Given the description of an element on the screen output the (x, y) to click on. 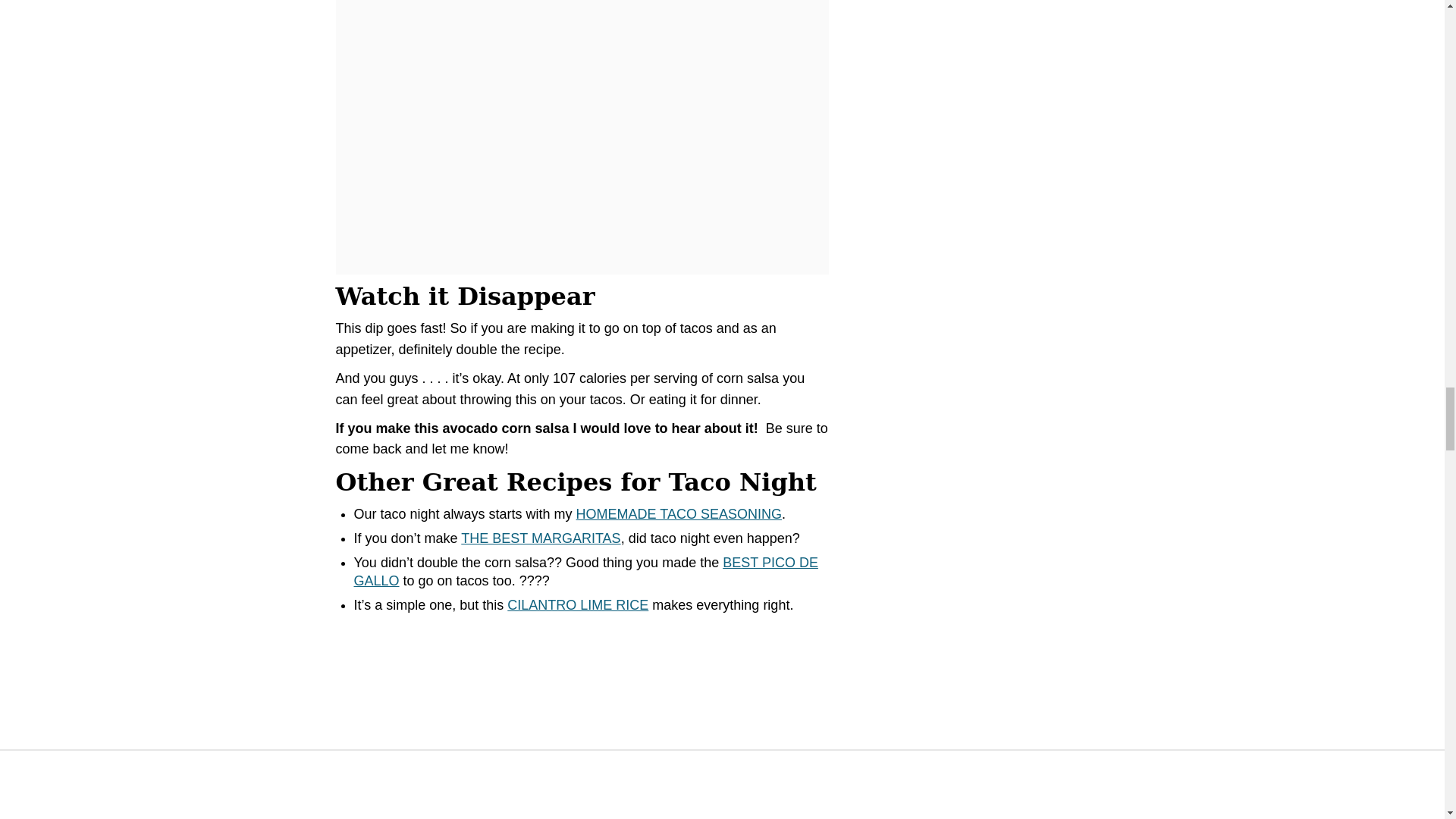
Cilantro Lime Rice (576, 604)
The Best Margarita Recipe (540, 538)
Homemade Taco Seasoning (678, 513)
The Best Pico de Gallo Recipe (584, 571)
